Given the description of an element on the screen output the (x, y) to click on. 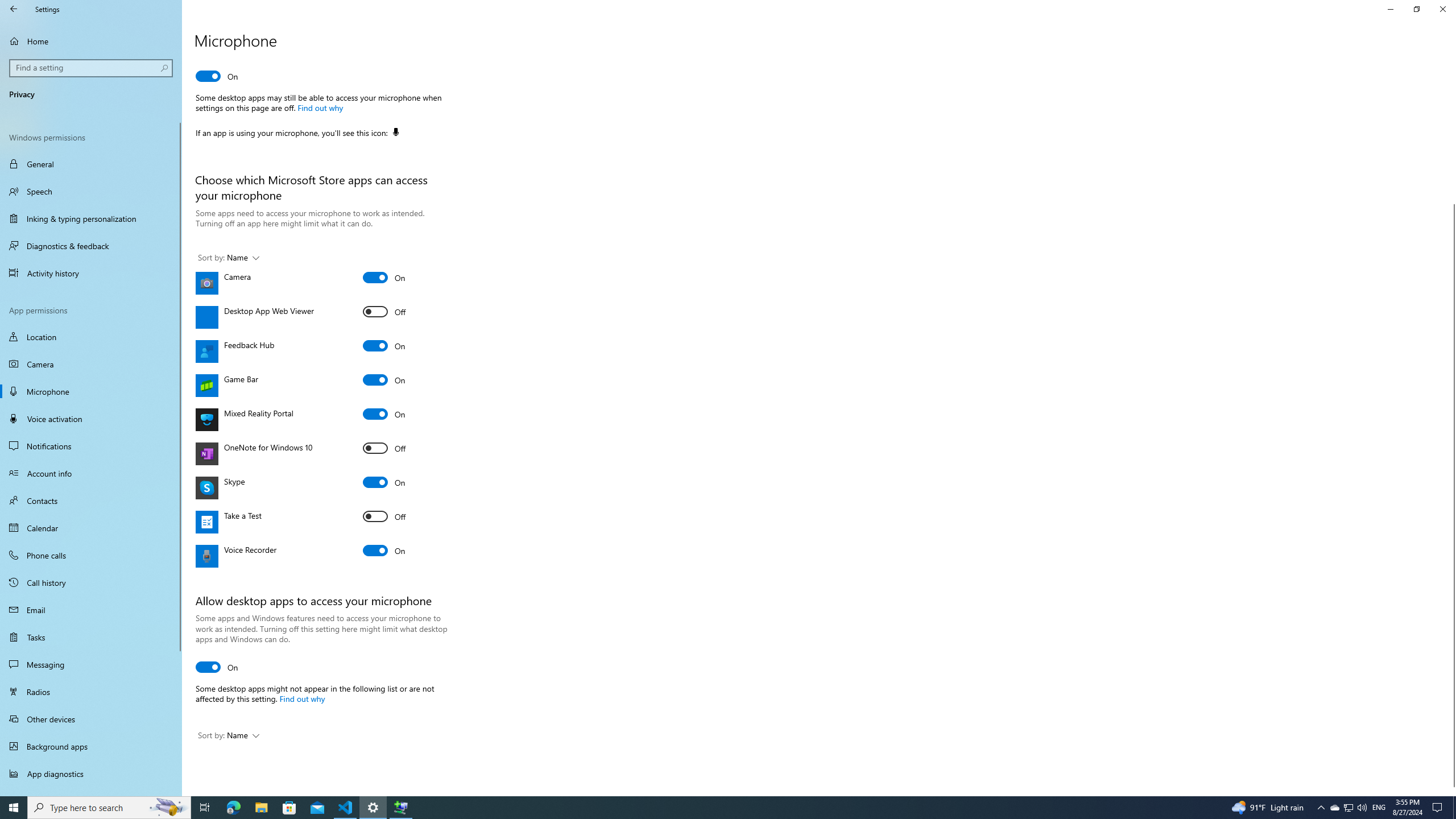
Desktop App Web Viewer (384, 311)
Call history (91, 582)
OneNote for Windows 10 (384, 447)
Location (91, 336)
Mixed Reality Portal (384, 413)
Other devices (91, 718)
Speech (91, 190)
Activity history (91, 272)
Take a Test (384, 515)
Allow desktop apps to access your microphone (216, 666)
